Given the description of an element on the screen output the (x, y) to click on. 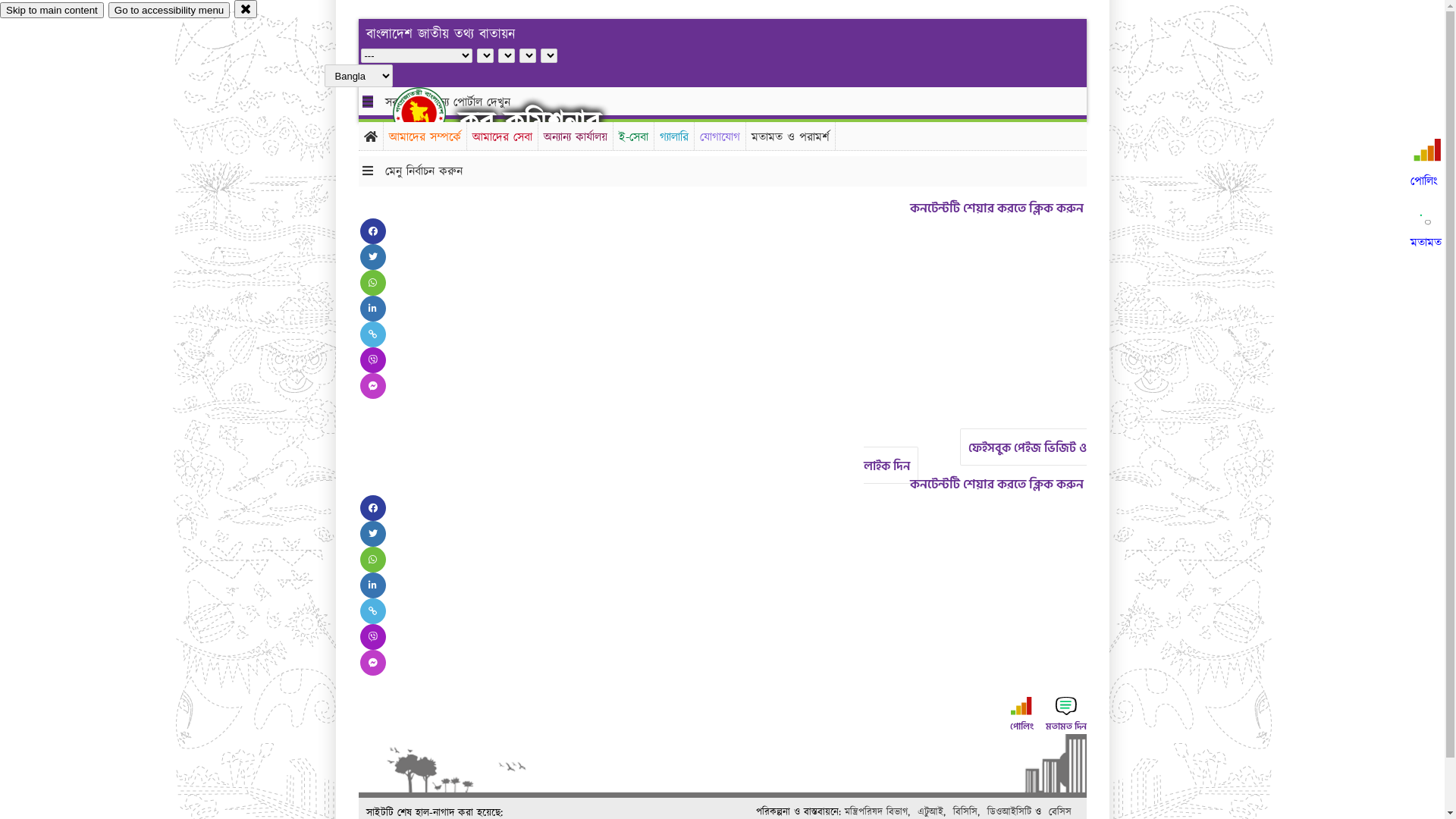
close Element type: hover (245, 9)

                
             Element type: hover (431, 112)
Go to accessibility menu Element type: text (168, 10)
Skip to main content Element type: text (51, 10)
